Given the description of an element on the screen output the (x, y) to click on. 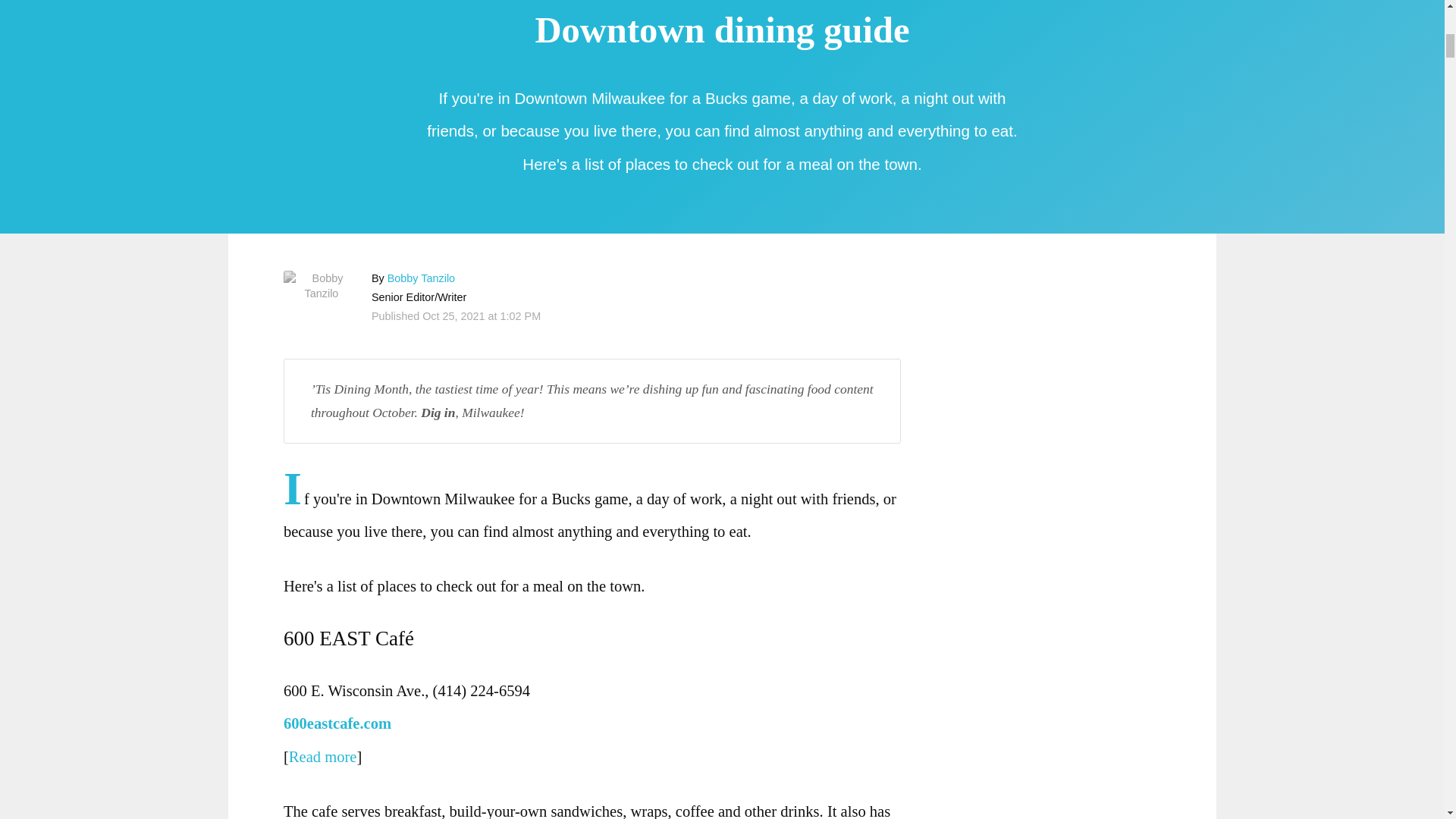
Dig in (437, 412)
Read more (322, 756)
600eastcafe.com (340, 723)
Bobby Tanzilo (321, 286)
Bobby Tanzilo (420, 277)
More articles by Bobby Tanzilo (420, 277)
